Given the description of an element on the screen output the (x, y) to click on. 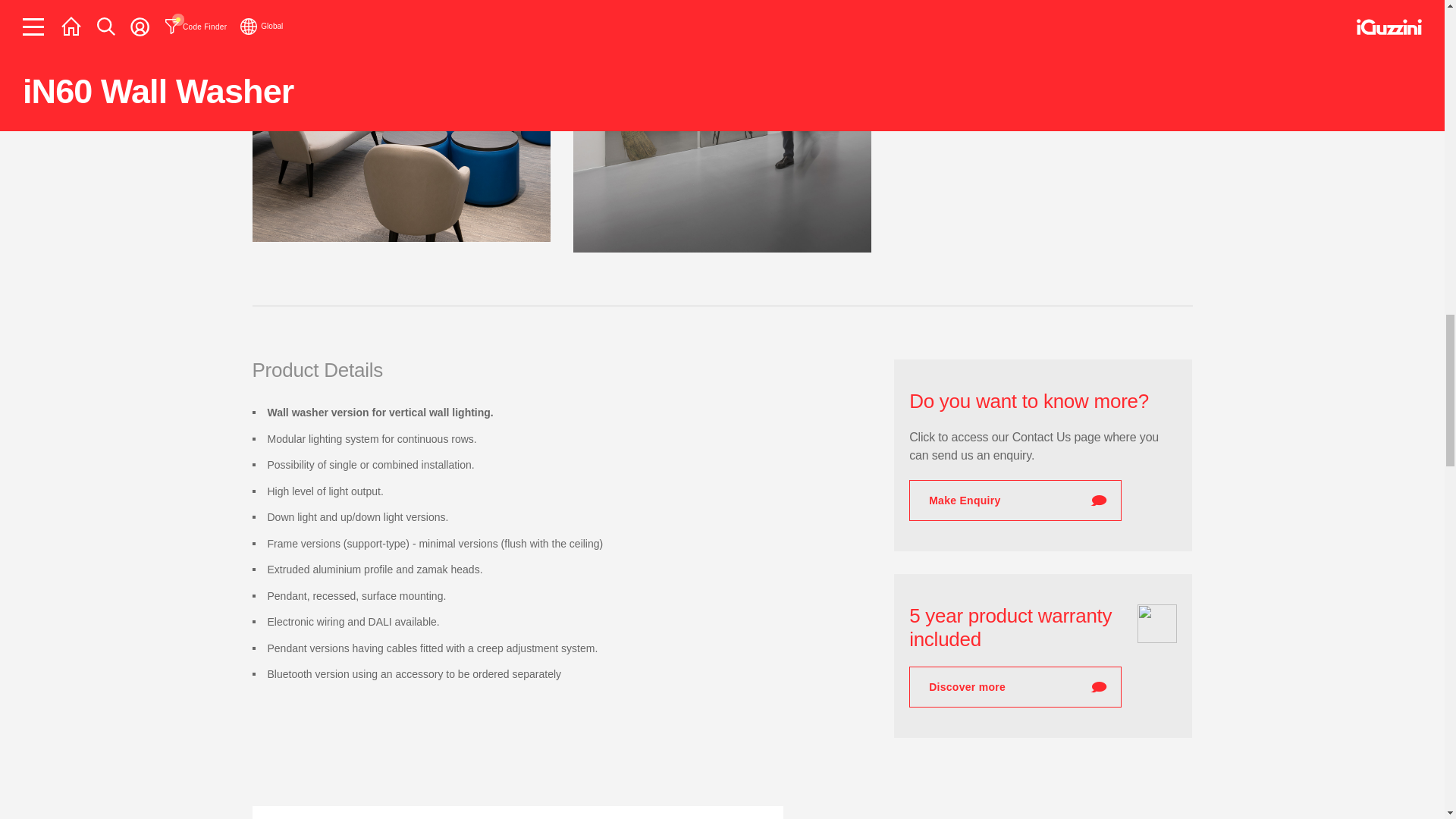
Make Enquiry (1014, 499)
